Given the description of an element on the screen output the (x, y) to click on. 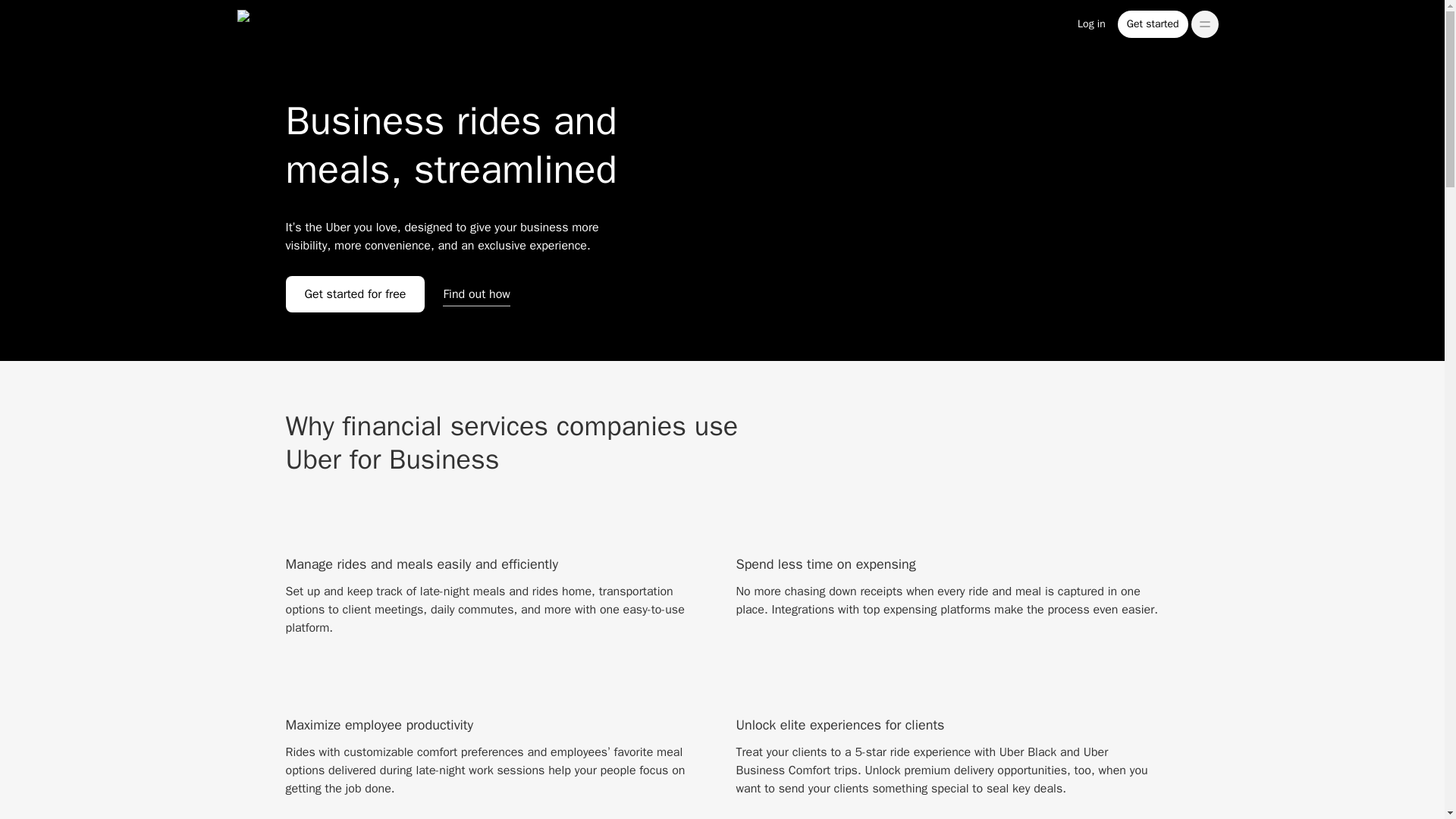
Log in (1091, 23)
Get started (1153, 23)
Find out how (476, 293)
, (1203, 24)
, (1204, 23)
Get started for free (355, 294)
